Given the description of an element on the screen output the (x, y) to click on. 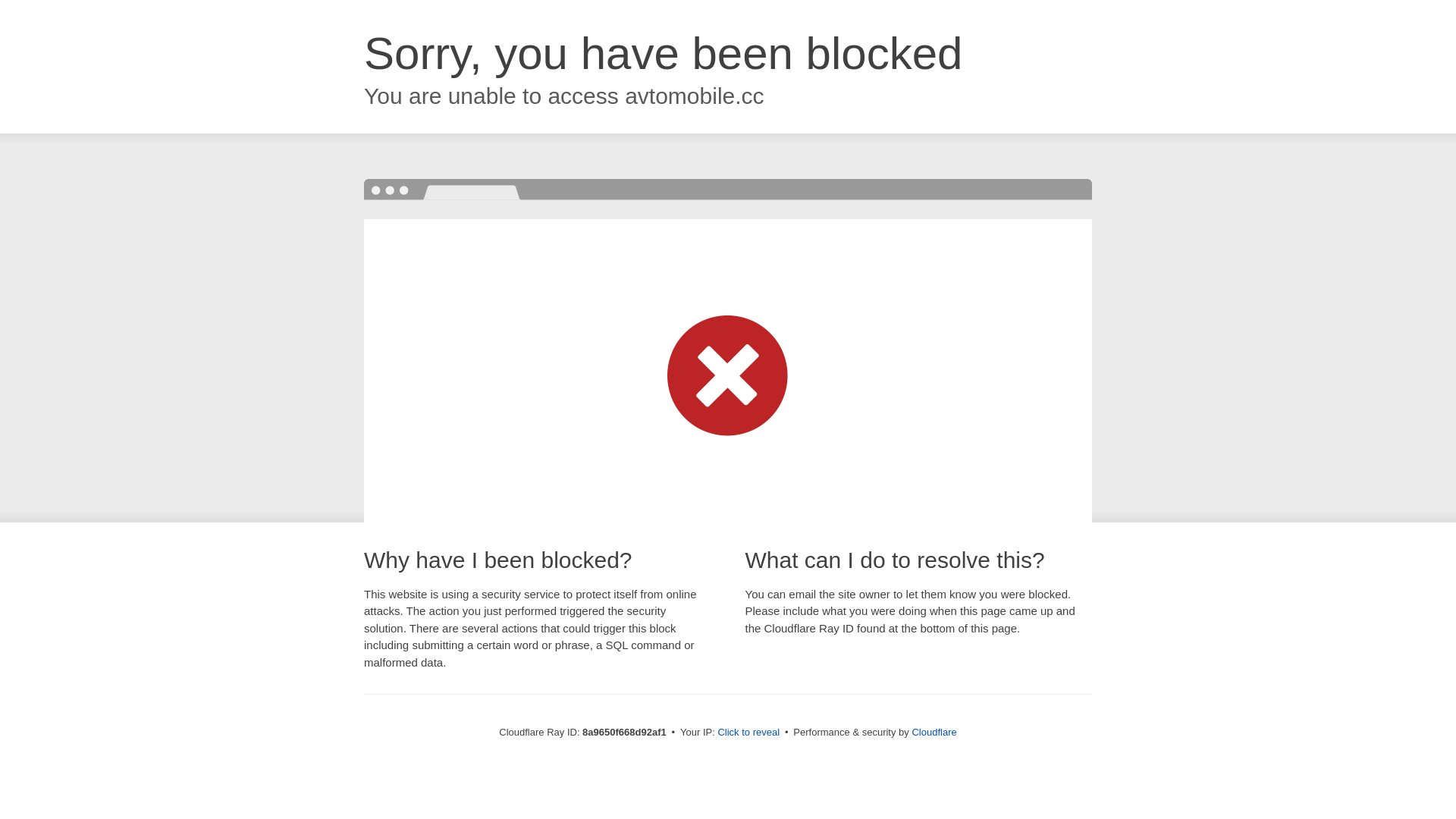
Cloudflare (933, 731)
Click to reveal (747, 732)
